Given the description of an element on the screen output the (x, y) to click on. 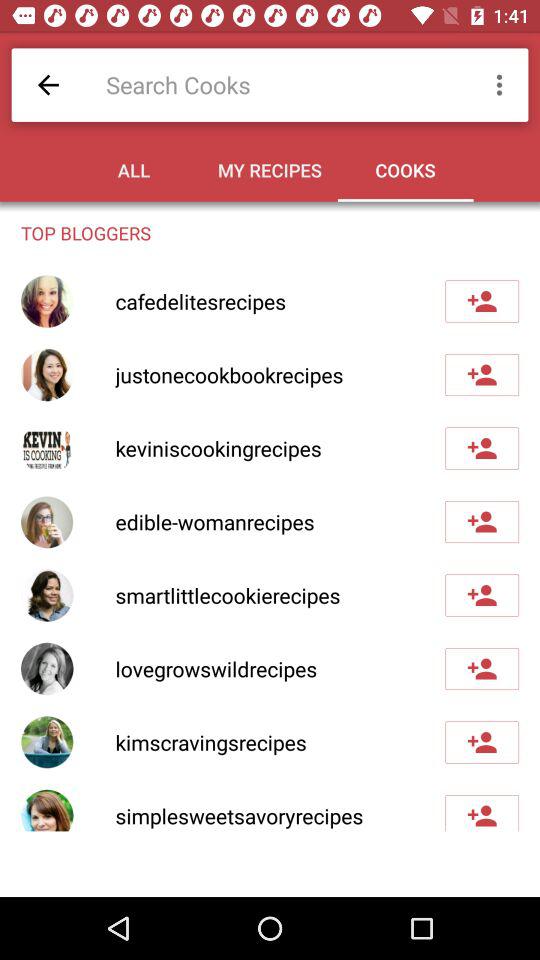
add to contacts (482, 522)
